Given the description of an element on the screen output the (x, y) to click on. 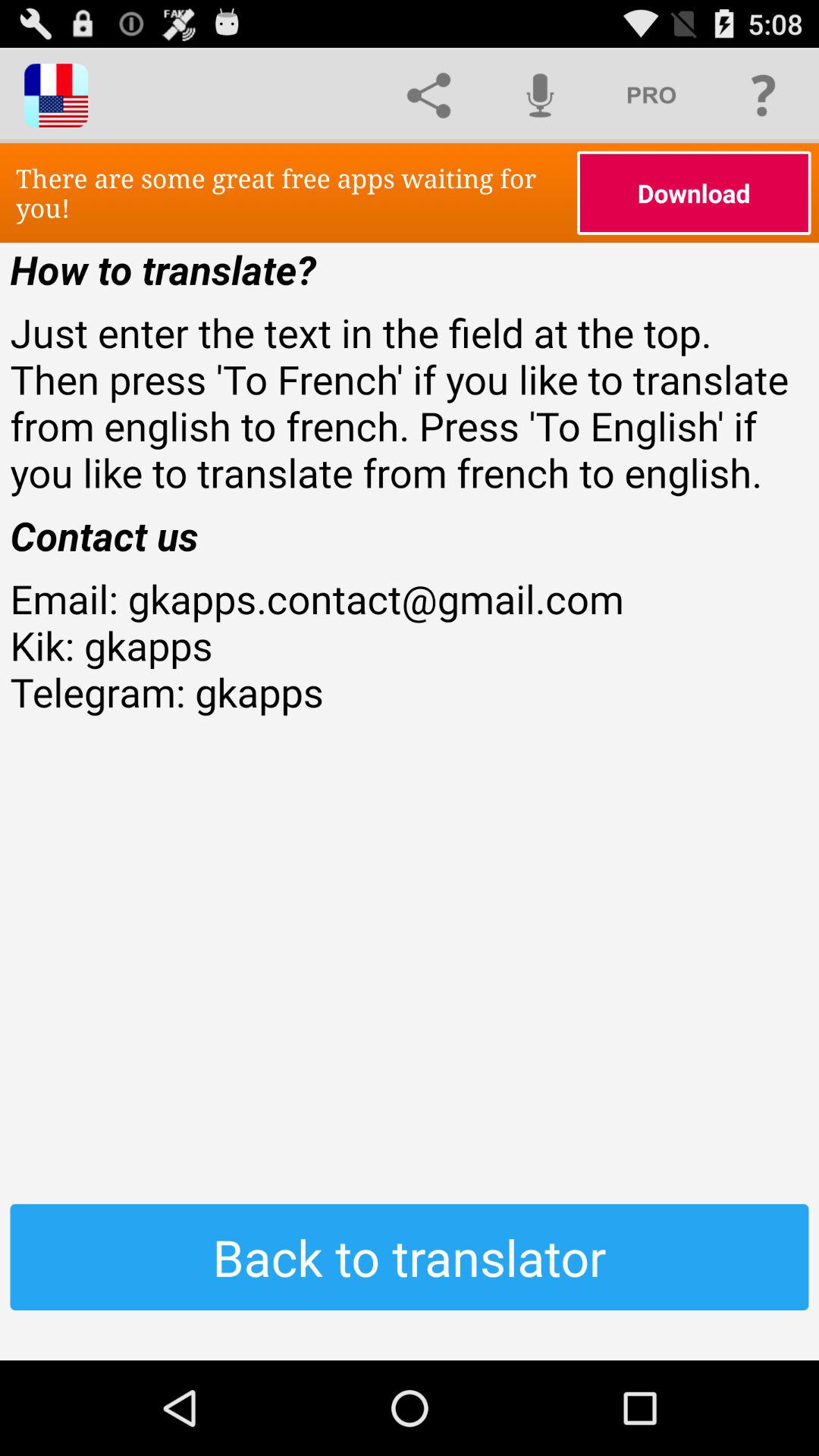
press icon above how to translate? icon (694, 192)
